Given the description of an element on the screen output the (x, y) to click on. 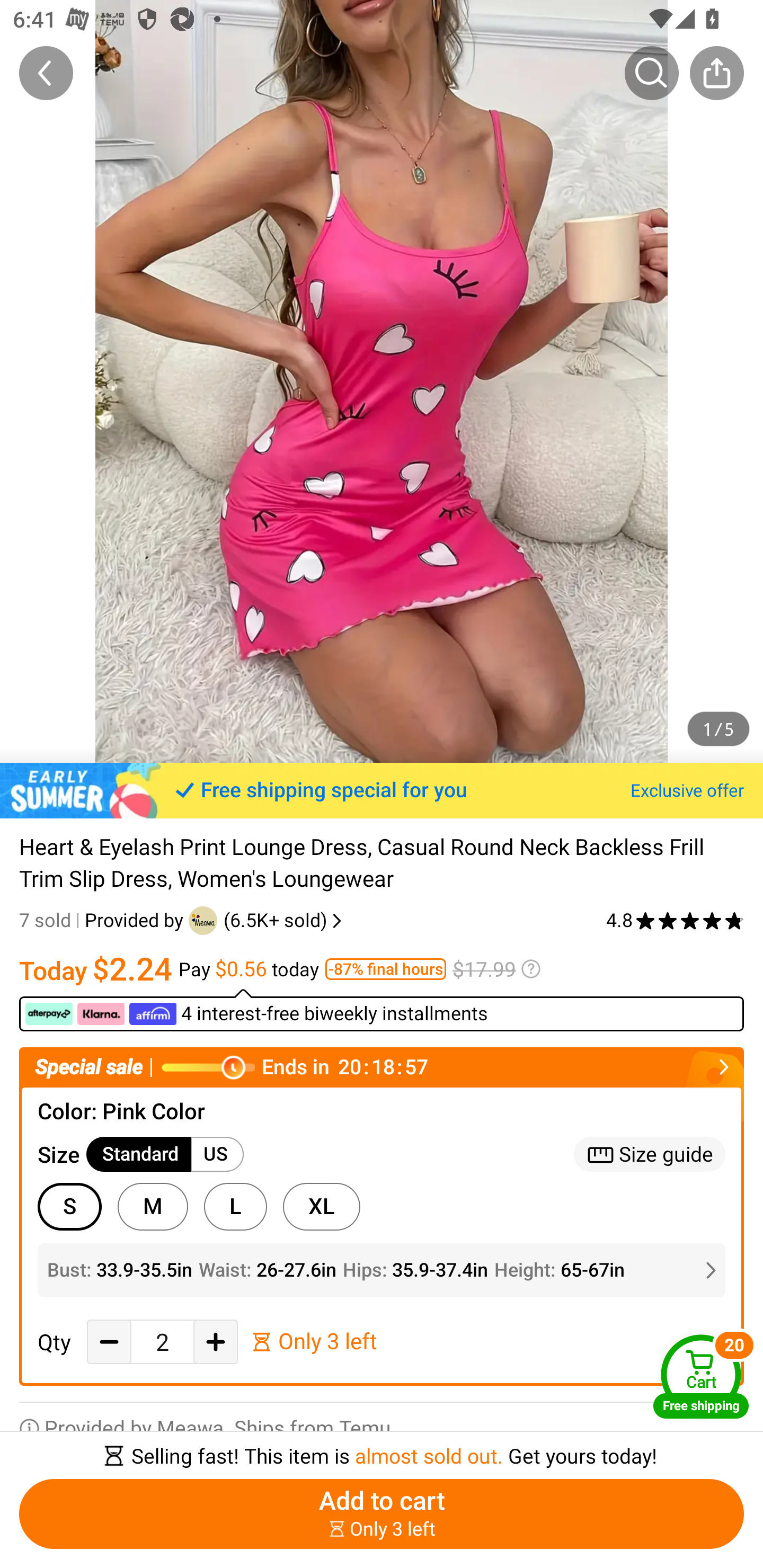
Back (46, 72)
Share (716, 72)
Free shipping special for you Exclusive offer (381, 790)
7 sold Provided by  (103, 920)
4.8 (674, 920)
￼ ￼ ￼ 4 interest-free biweekly installments (381, 1009)
Special sale Ends in￼￼ (381, 1067)
Standard (138, 1153)
US (216, 1153)
 Size guide (649, 1153)
S (69, 1206)
M (152, 1206)
L (235, 1206)
XL (321, 1206)
Decrease Quantity Button (108, 1342)
Add Quantity button (215, 1342)
2 (162, 1342)
Cart Free shipping Cart (701, 1375)
Add to cart ￼￼Only 3 left (381, 1513)
